Given the description of an element on the screen output the (x, y) to click on. 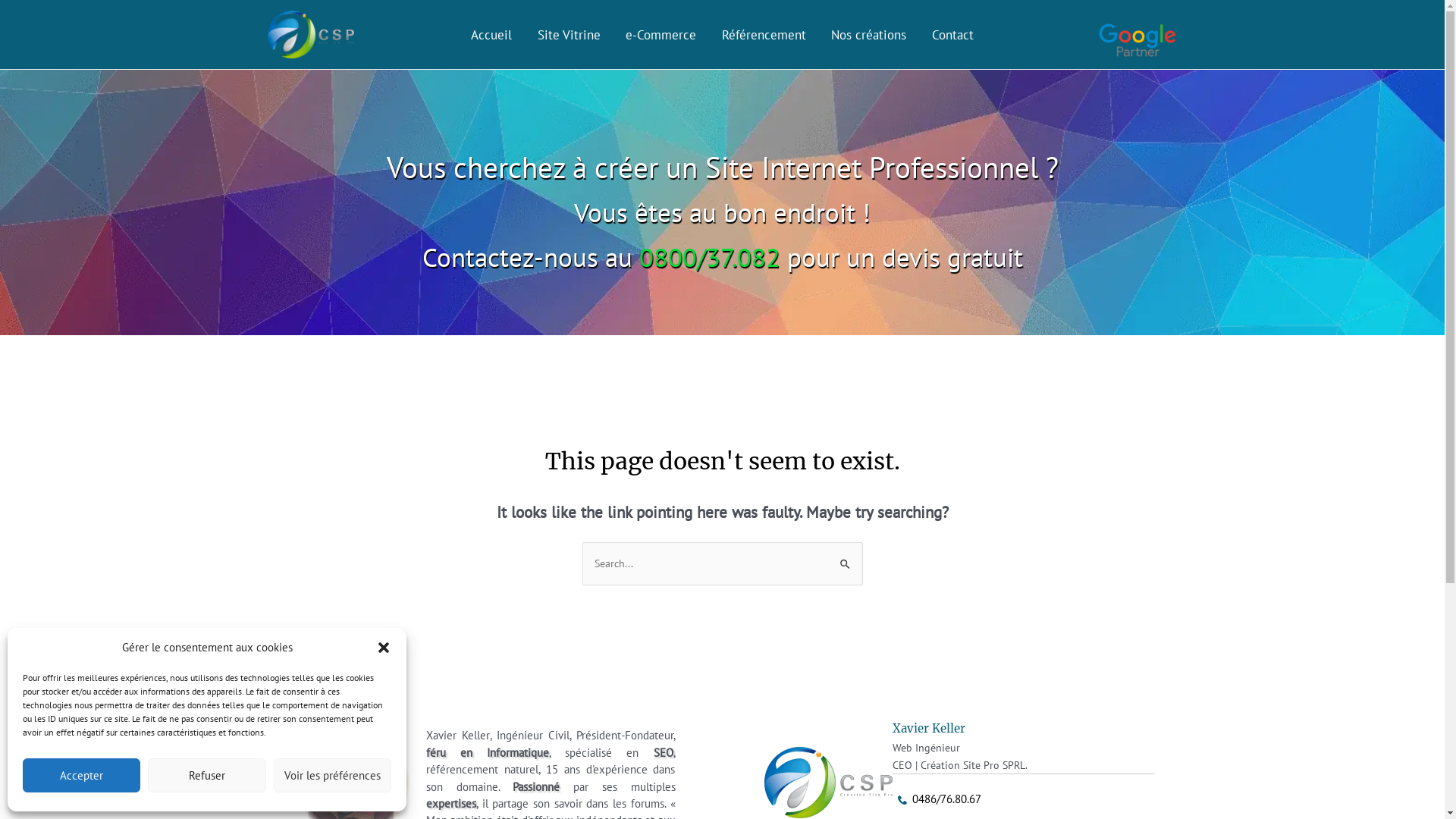
e-Commerce Element type: text (660, 33)
Search Element type: text (845, 557)
Contact Element type: text (952, 33)
0800/37.082 Element type: text (708, 256)
Site Vitrine Element type: text (568, 33)
Refuser Element type: text (206, 775)
0486/76.80.67 Element type: text (946, 798)
Accepter Element type: text (81, 775)
Accueil Element type: text (491, 33)
